Given the description of an element on the screen output the (x, y) to click on. 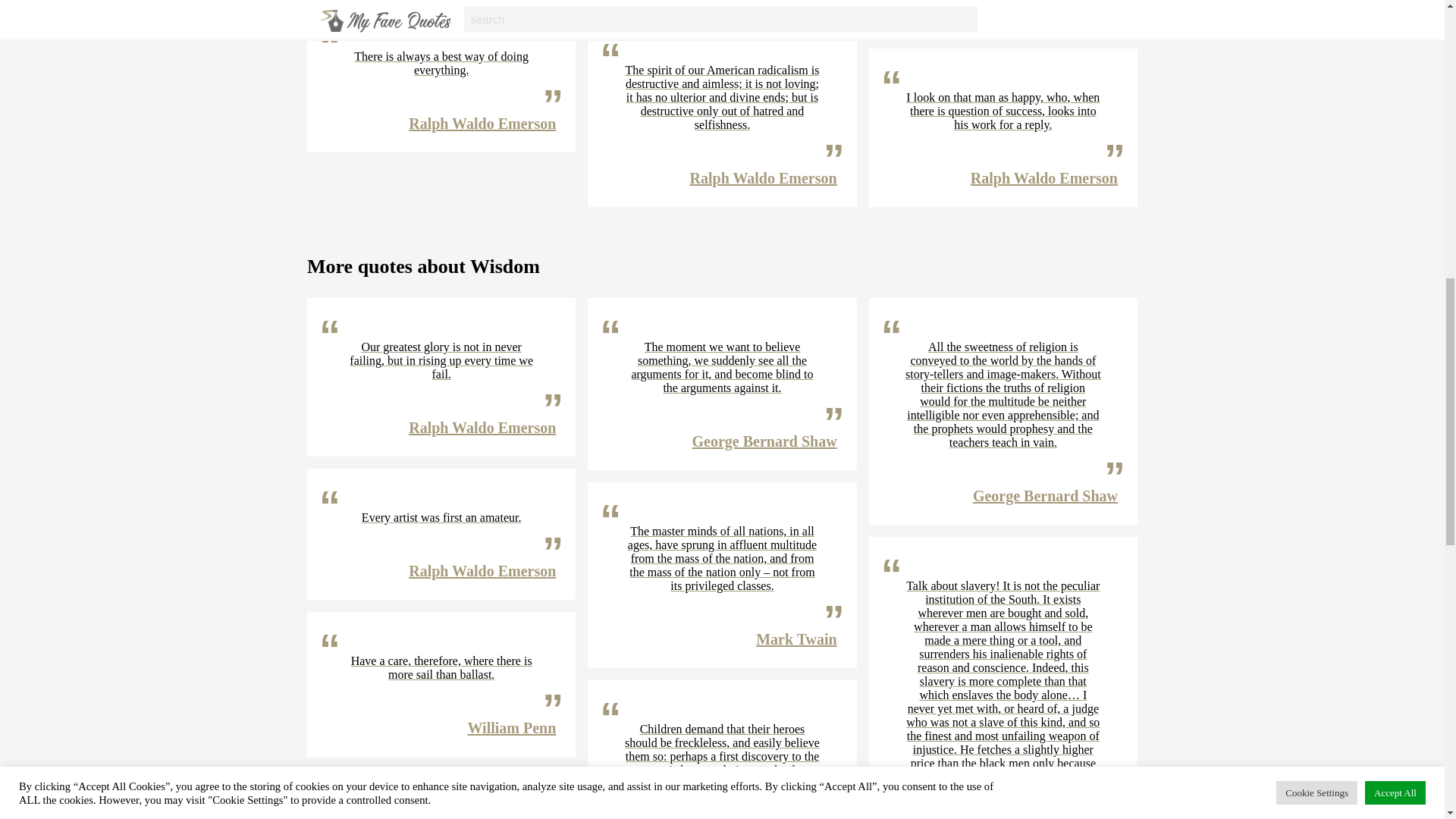
Ralph Waldo Emerson (1044, 7)
There is always a best way of doing everything. (440, 62)
Ralph Waldo Emerson (482, 427)
William Penn (511, 727)
Ralph Waldo Emerson (482, 123)
Ralph Waldo Emerson (763, 177)
